Given the description of an element on the screen output the (x, y) to click on. 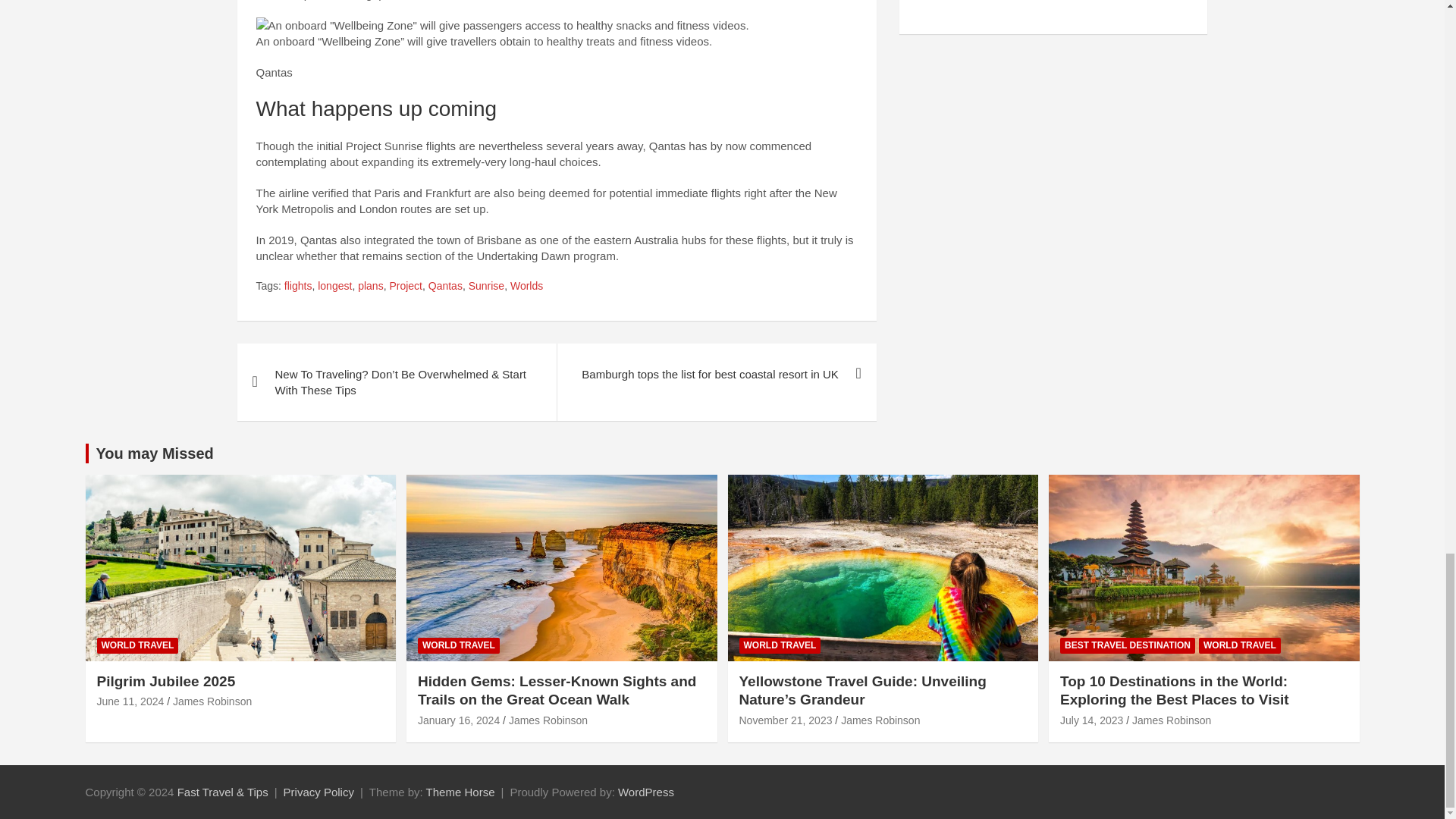
Worlds (527, 286)
Sunrise (485, 286)
Pilgrim Jubilee 2025 (130, 701)
Project (405, 286)
Theme Horse (460, 791)
Bamburgh tops the list for best coastal resort in UK (716, 373)
WordPress (645, 791)
flights (298, 286)
longest (334, 286)
plans (370, 286)
Qantas (445, 286)
